Given the description of an element on the screen output the (x, y) to click on. 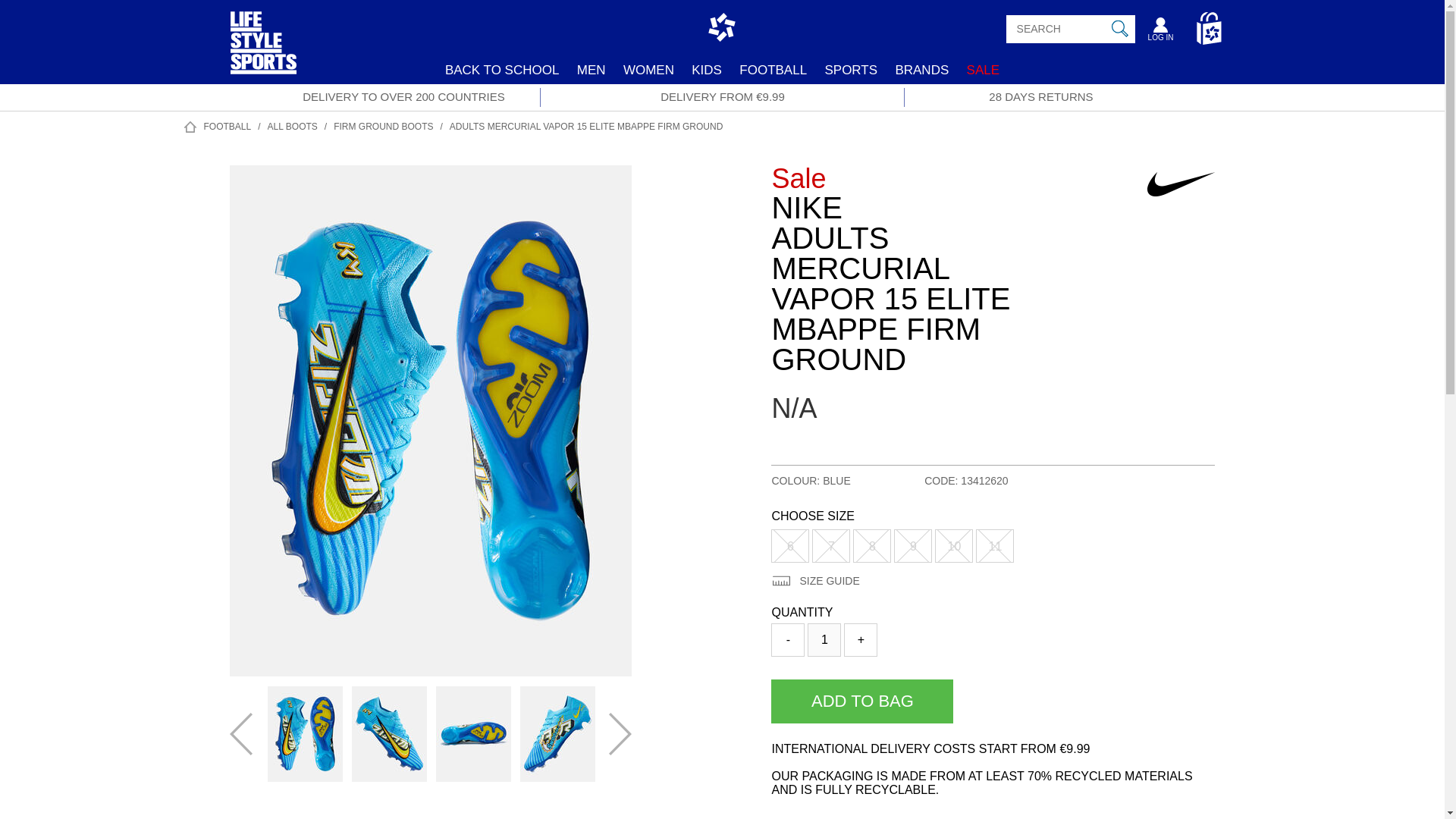
Go to Football (231, 126)
Life Style Sports (263, 61)
BACK TO SCHOOL (502, 70)
Go to Firm Ground Boots (387, 126)
Go to All Boots (297, 126)
LOG IN (1160, 32)
SEARCH (1120, 28)
Life Style Sports Home (263, 61)
1 (824, 639)
Size 7 is not available for this combination (831, 545)
